Given the description of an element on the screen output the (x, y) to click on. 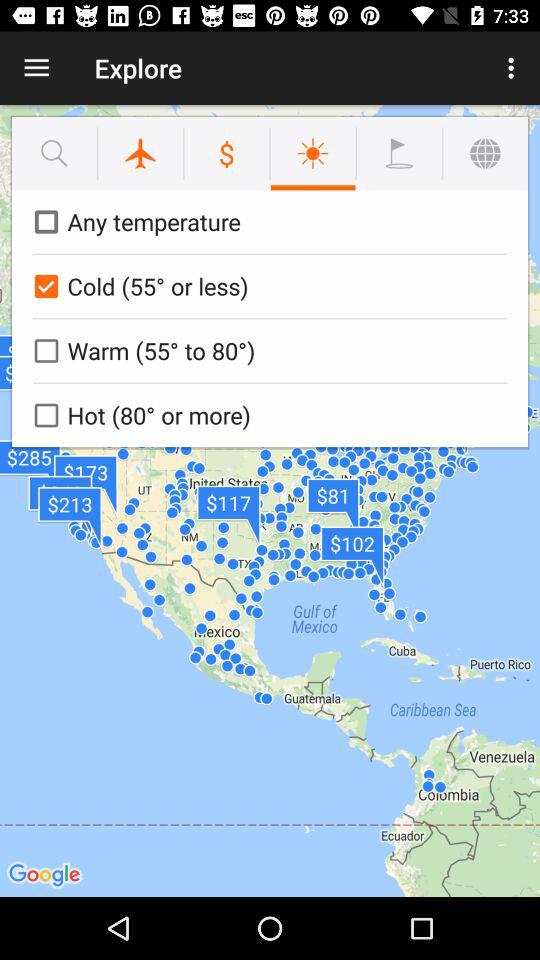
turn on the warm 55 to (266, 350)
